Given the description of an element on the screen output the (x, y) to click on. 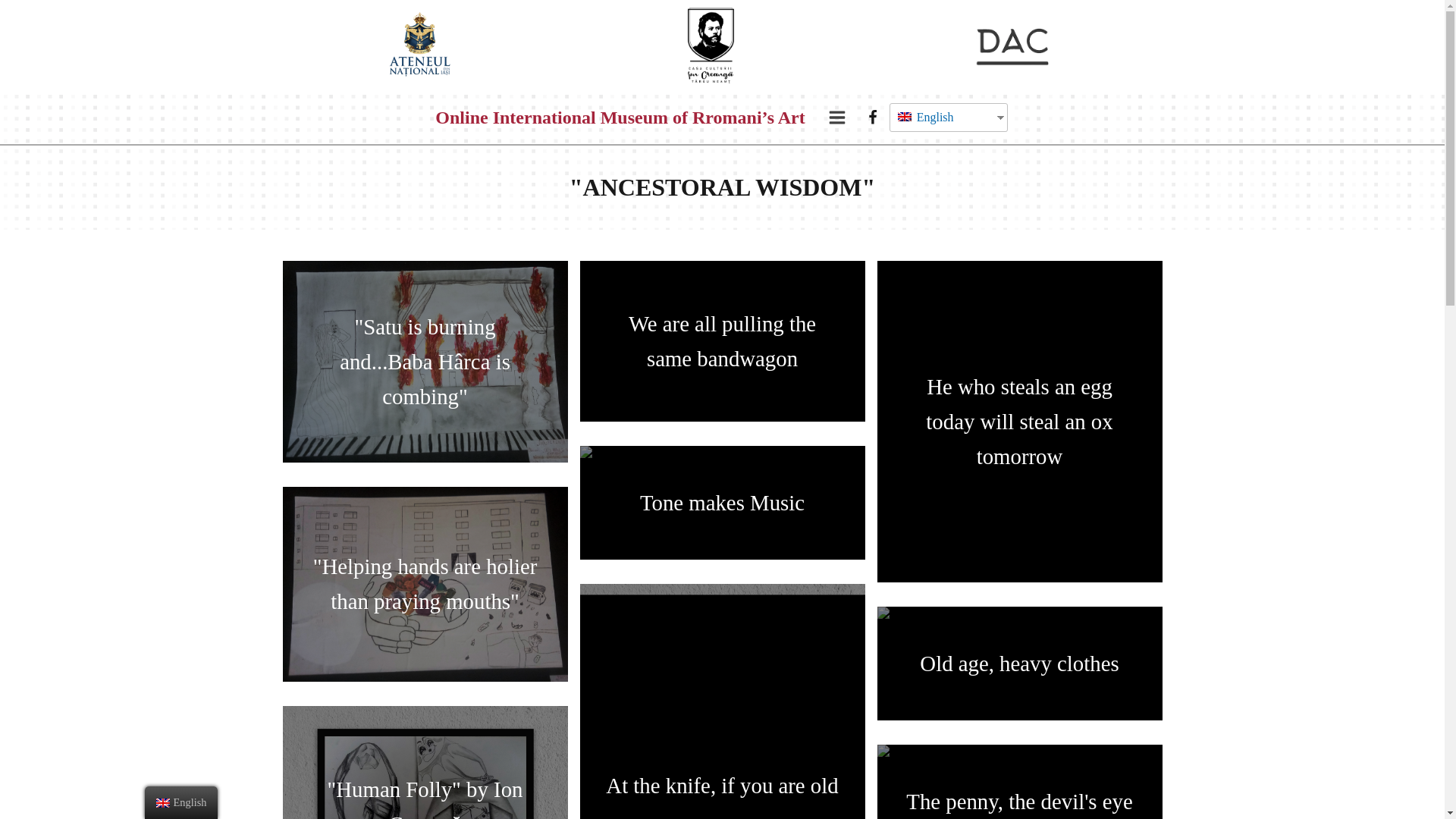
English (942, 117)
The penny, the devil's eye (1018, 781)
We are all pulling the same bandwagon (721, 341)
English (904, 116)
English (942, 117)
At the knife, if you are old (721, 701)
"ANCESTORAL WISDOM" (722, 186)
Tone makes Music (721, 502)
"Helping hands are holier than praying mouths" (424, 584)
Old age, heavy clothes (1018, 663)
